Given the description of an element on the screen output the (x, y) to click on. 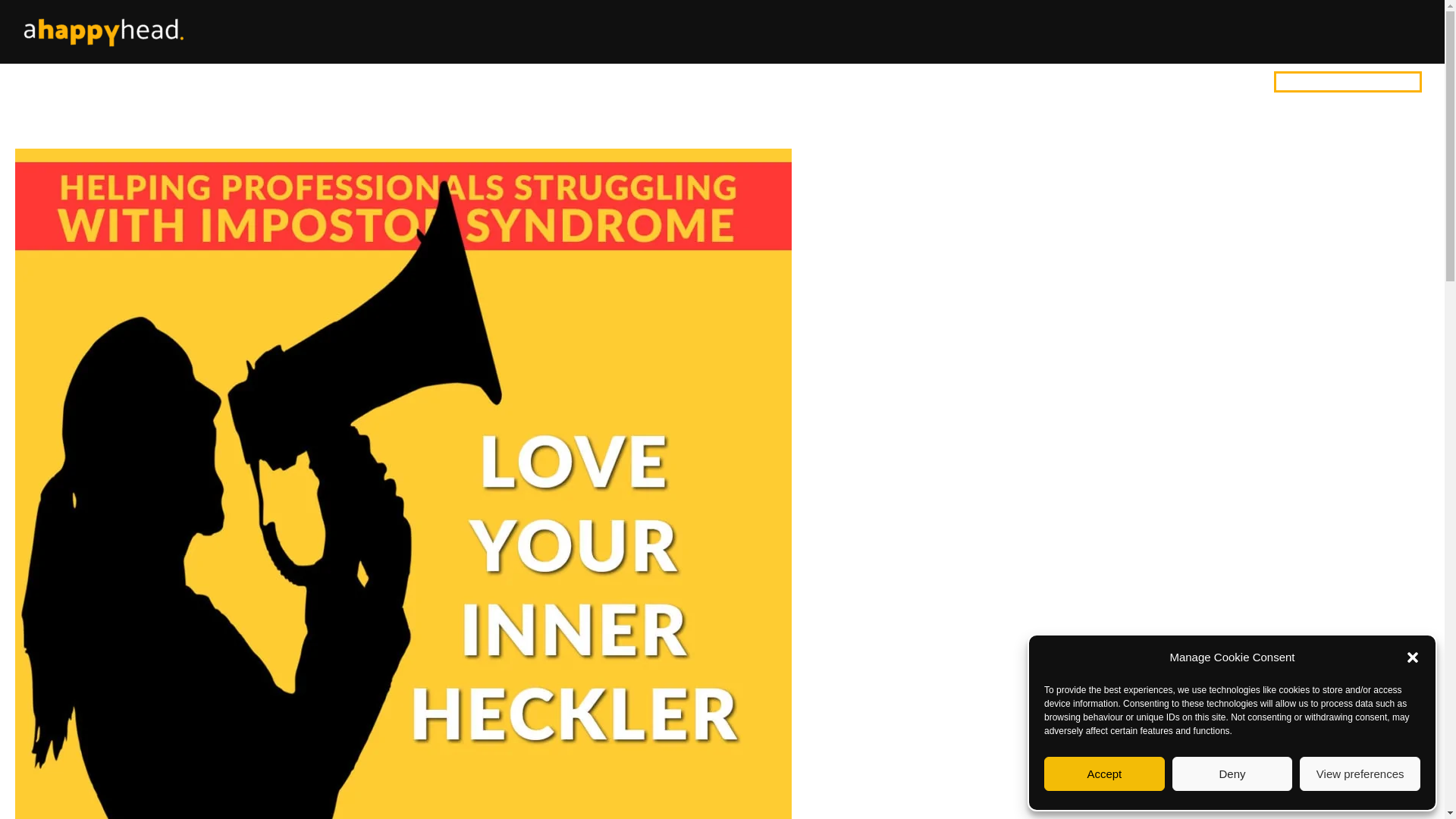
speaking (1073, 81)
Accept (1103, 773)
hypnotherapy services (842, 81)
business coaching services (972, 81)
Deny (1232, 773)
View preferences (1360, 773)
home (762, 81)
